Given the description of an element on the screen output the (x, y) to click on. 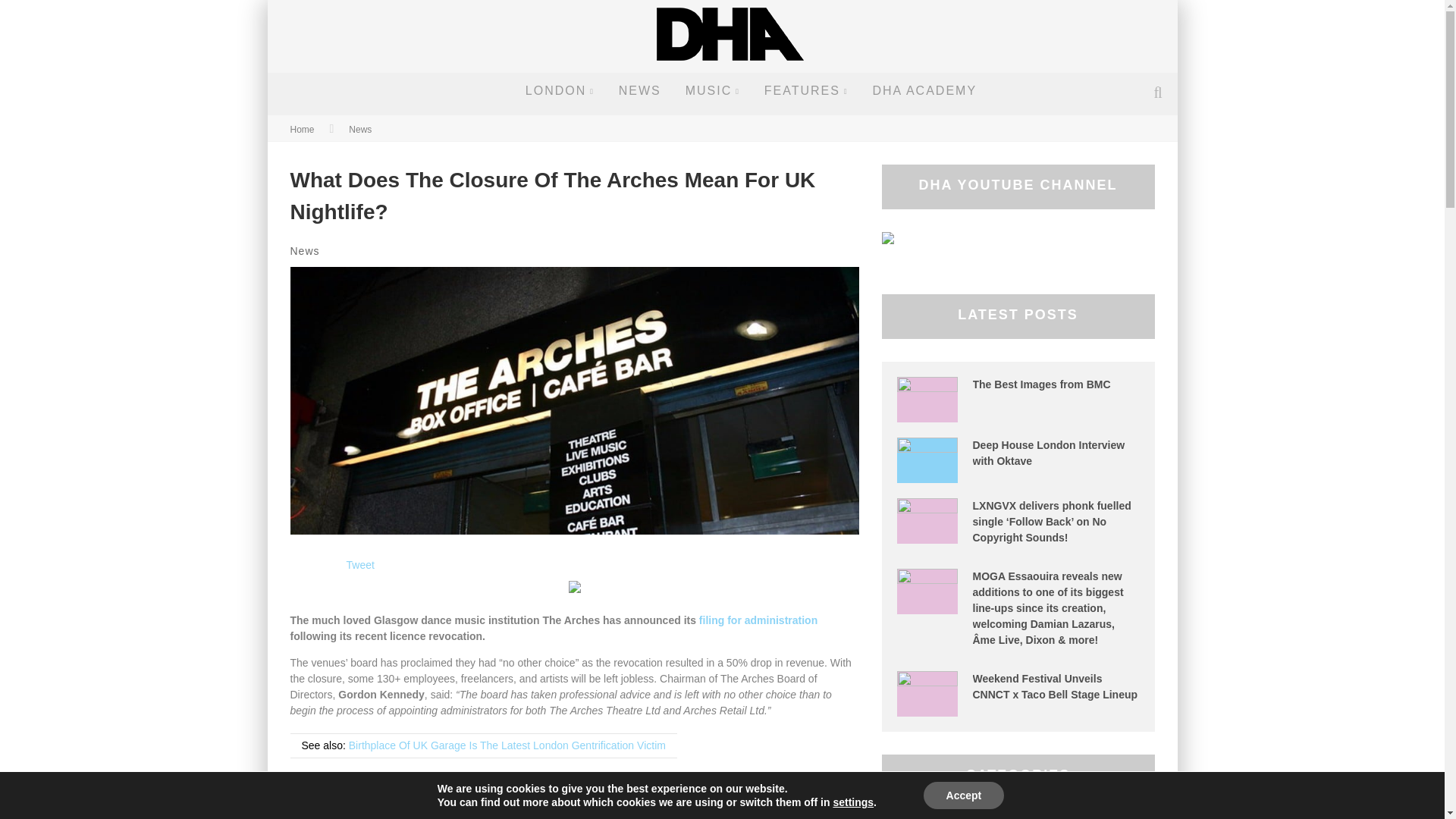
View all posts in News (360, 129)
NEWS (639, 90)
View all posts in News (303, 250)
LONDON (559, 90)
MUSIC (712, 90)
